Given the description of an element on the screen output the (x, y) to click on. 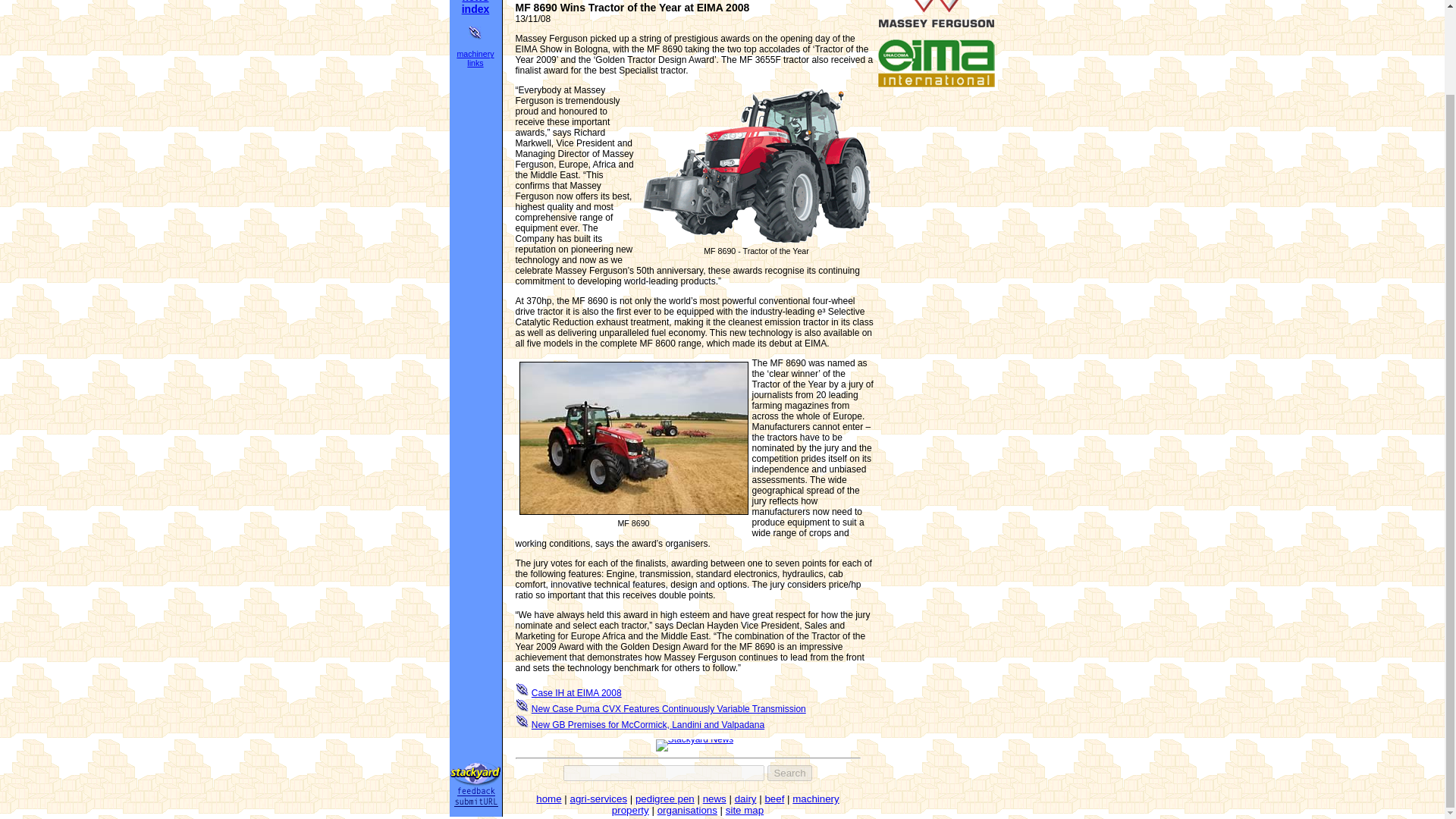
Case IH at EIMA 2008 (576, 692)
news index (475, 7)
agri-services (598, 798)
New GB Premises for McCormick, Landini and Valpadana (647, 724)
home (547, 798)
machinery links (475, 58)
pedigree pen (664, 798)
property (630, 809)
beef (774, 798)
site map (743, 809)
